Given the description of an element on the screen output the (x, y) to click on. 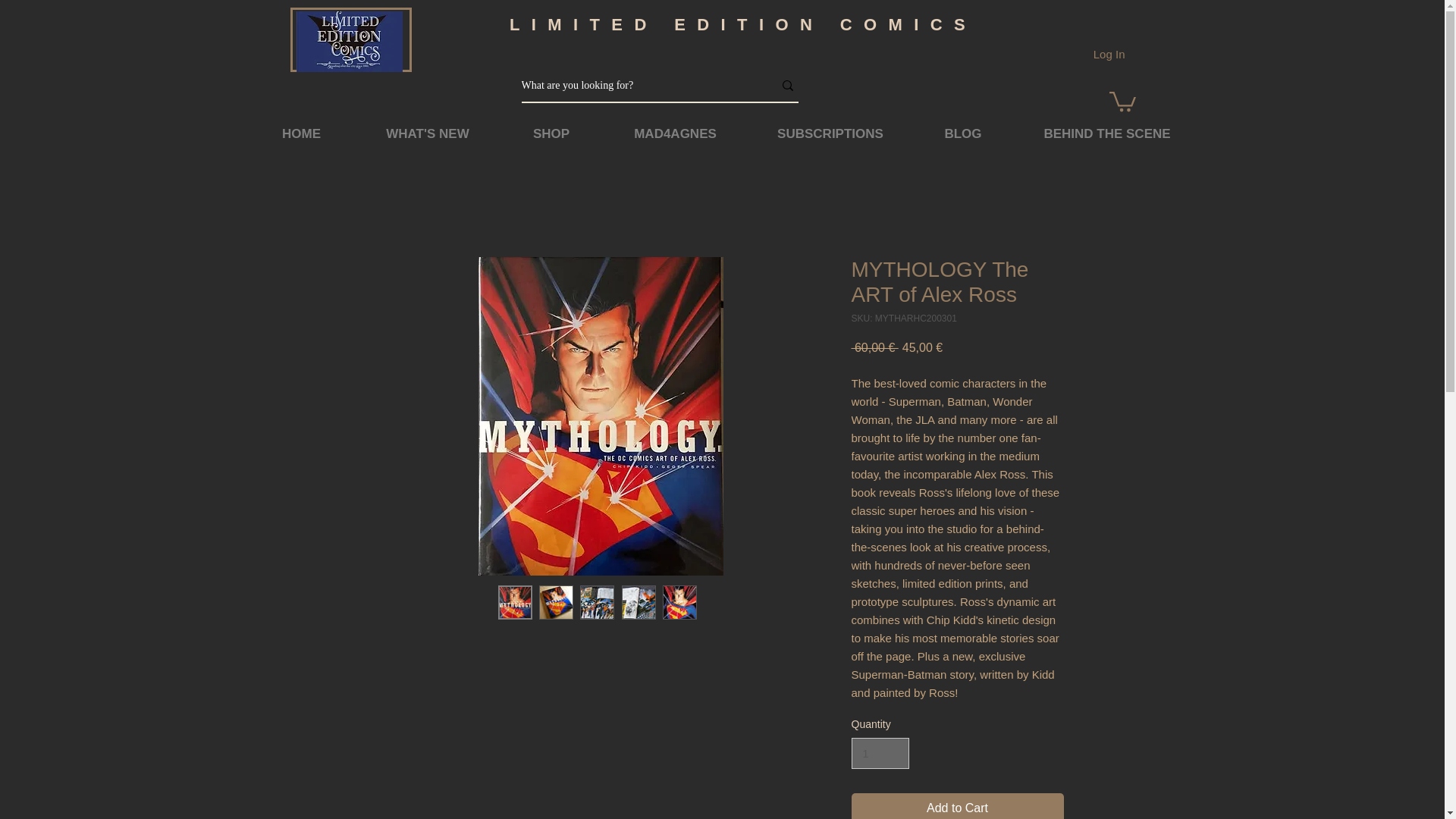
LIMITED EDITION COMICS (742, 24)
WHAT'S NEW (427, 133)
SHOP (550, 133)
BEHIND THE SCENE (1106, 133)
1 (879, 753)
BLOG (962, 133)
Log In (1109, 53)
Add to Cart (956, 806)
MAD4AGNES (675, 133)
HOME (301, 133)
SUBSCRIPTIONS (830, 133)
